Given the description of an element on the screen output the (x, y) to click on. 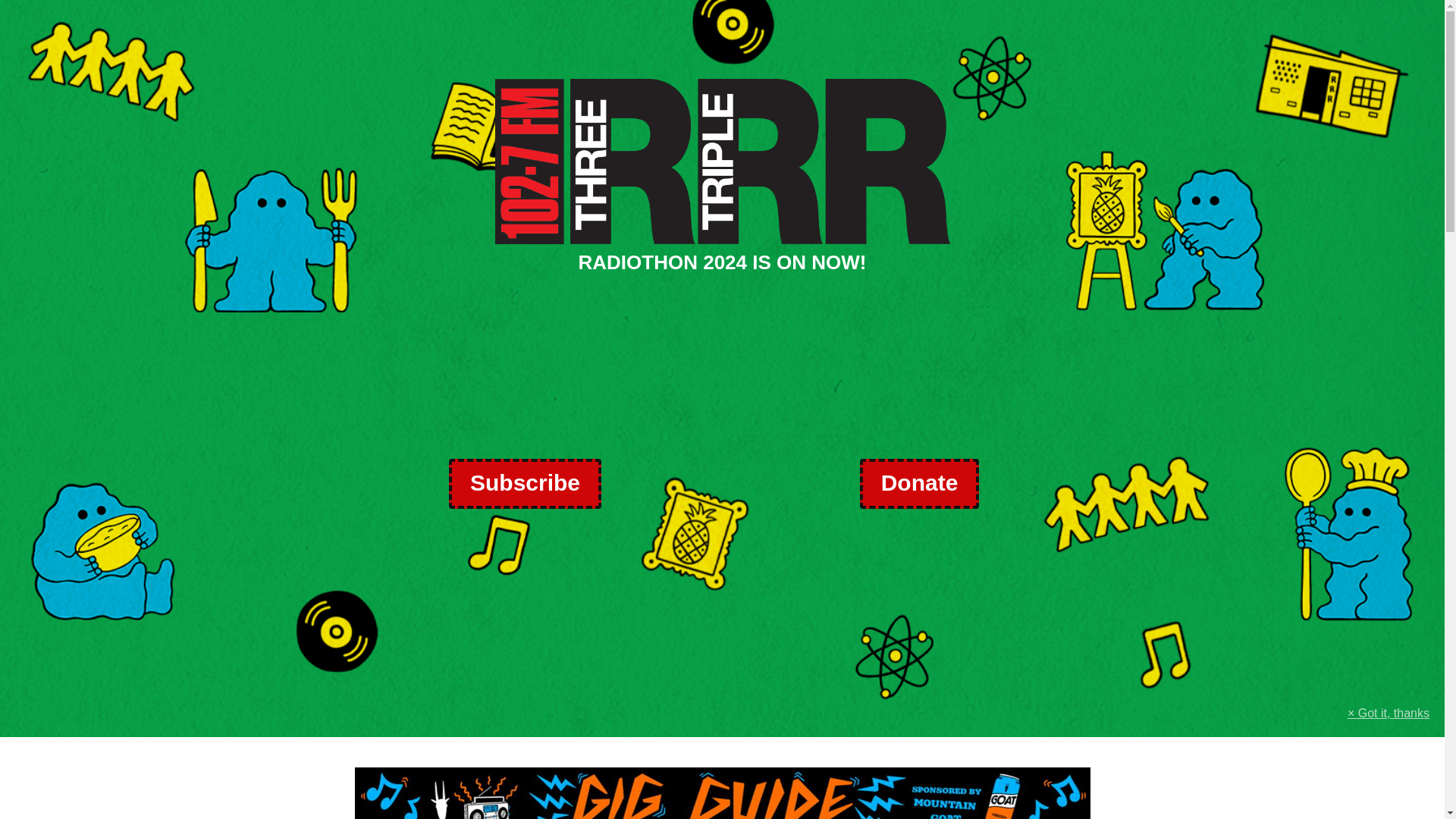
Subscribe (524, 483)
Donate (919, 483)
